Given the description of an element on the screen output the (x, y) to click on. 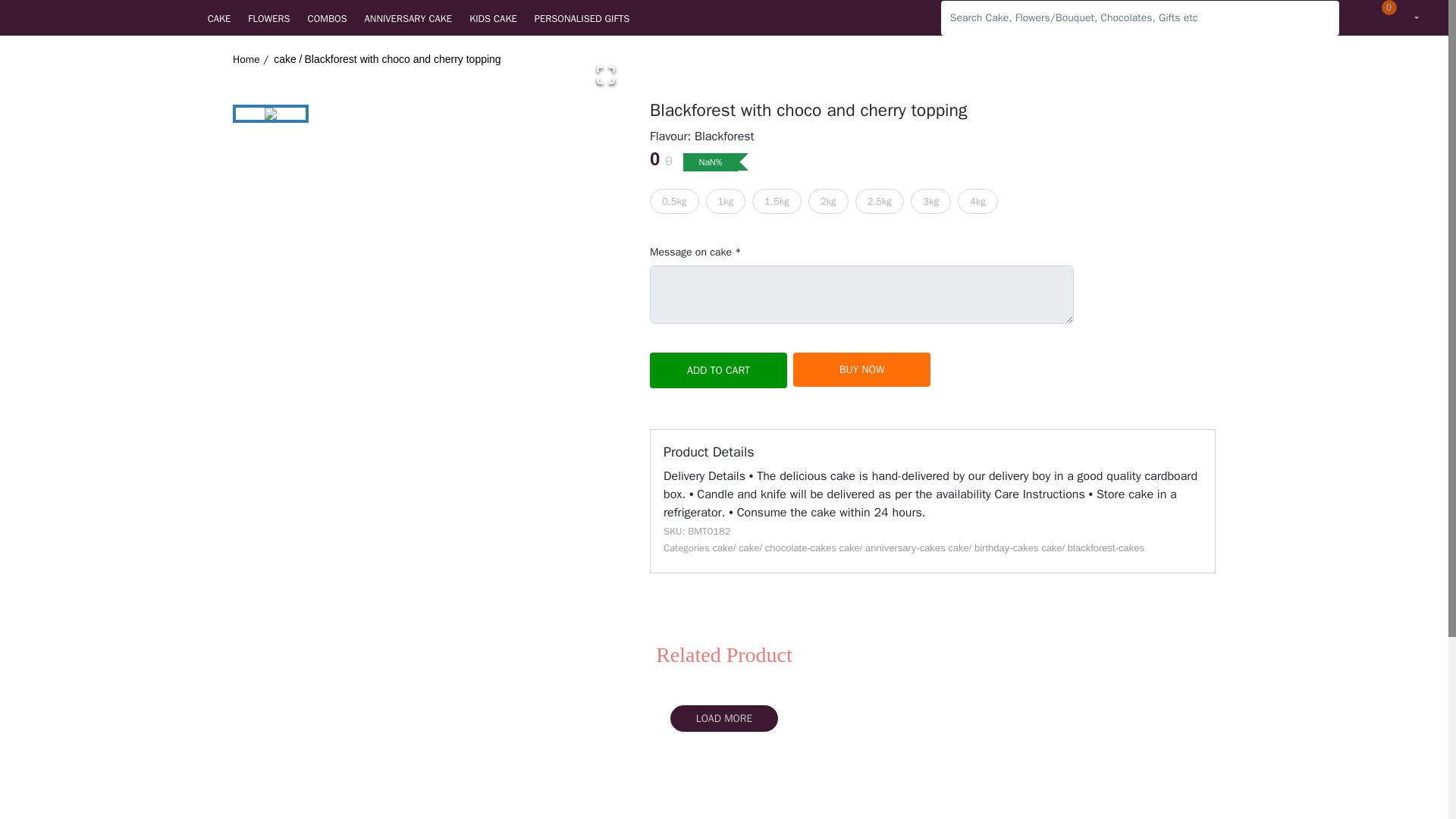
CAKE (228, 18)
KIDS CAKE (501, 18)
ANNIVERSARY CAKE (417, 18)
0 (1373, 18)
PERSONALISED GIFTS (590, 18)
COMBOS (336, 18)
FLOWERS (277, 18)
